Given the description of an element on the screen output the (x, y) to click on. 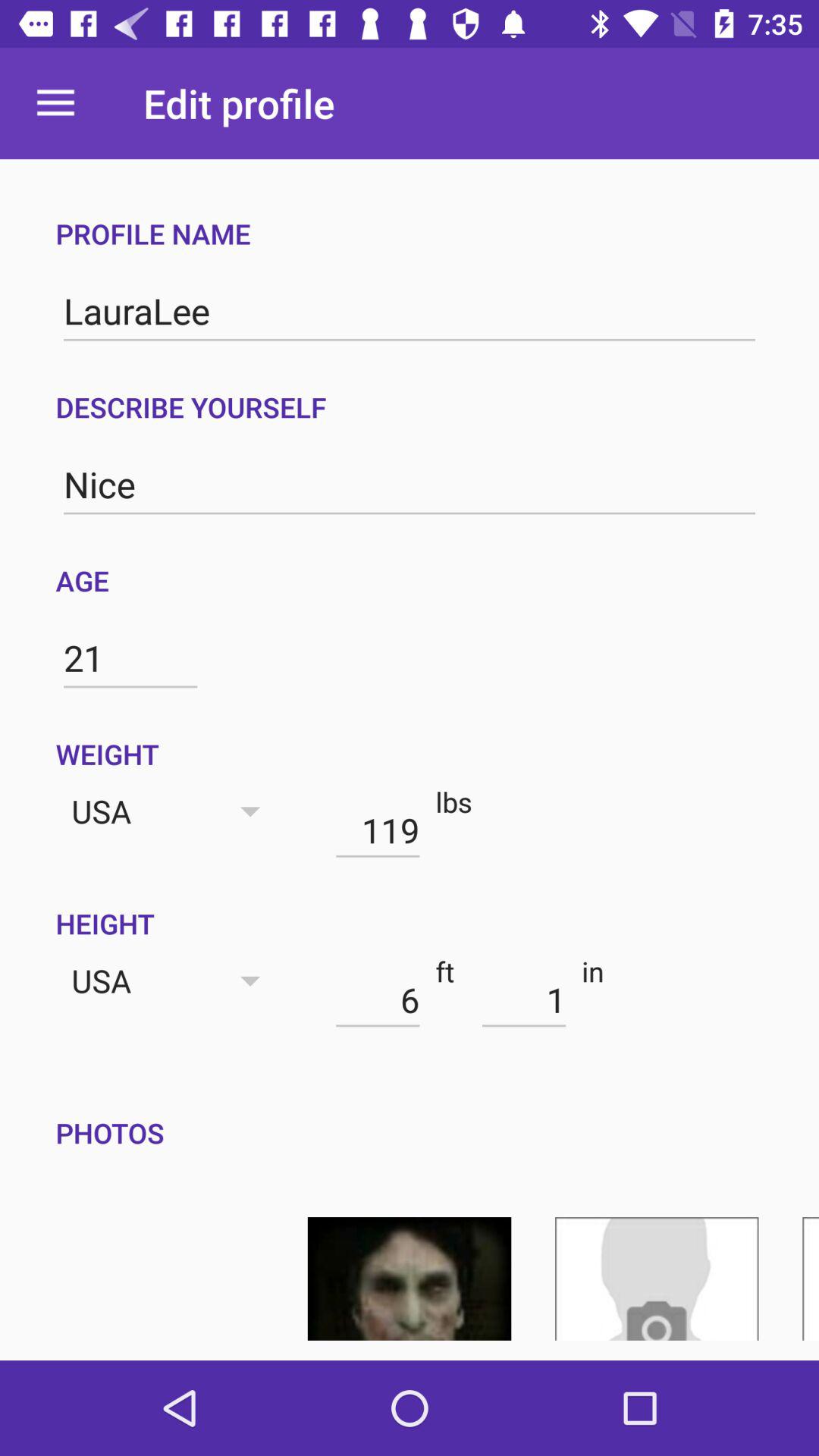
choose icon to the left of the lbs (377, 830)
